Given the description of an element on the screen output the (x, y) to click on. 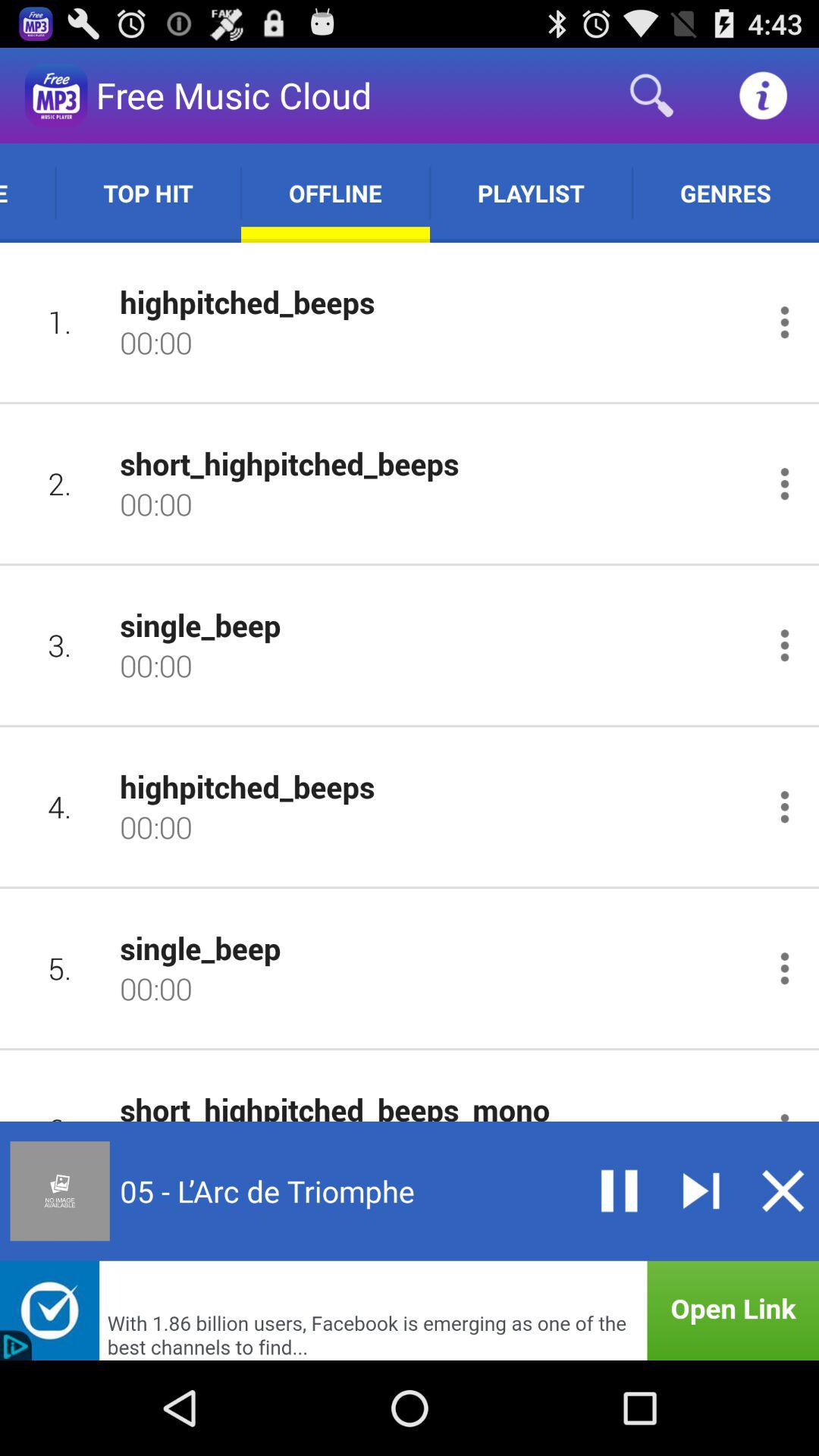
open playlist item (530, 192)
